Given the description of an element on the screen output the (x, y) to click on. 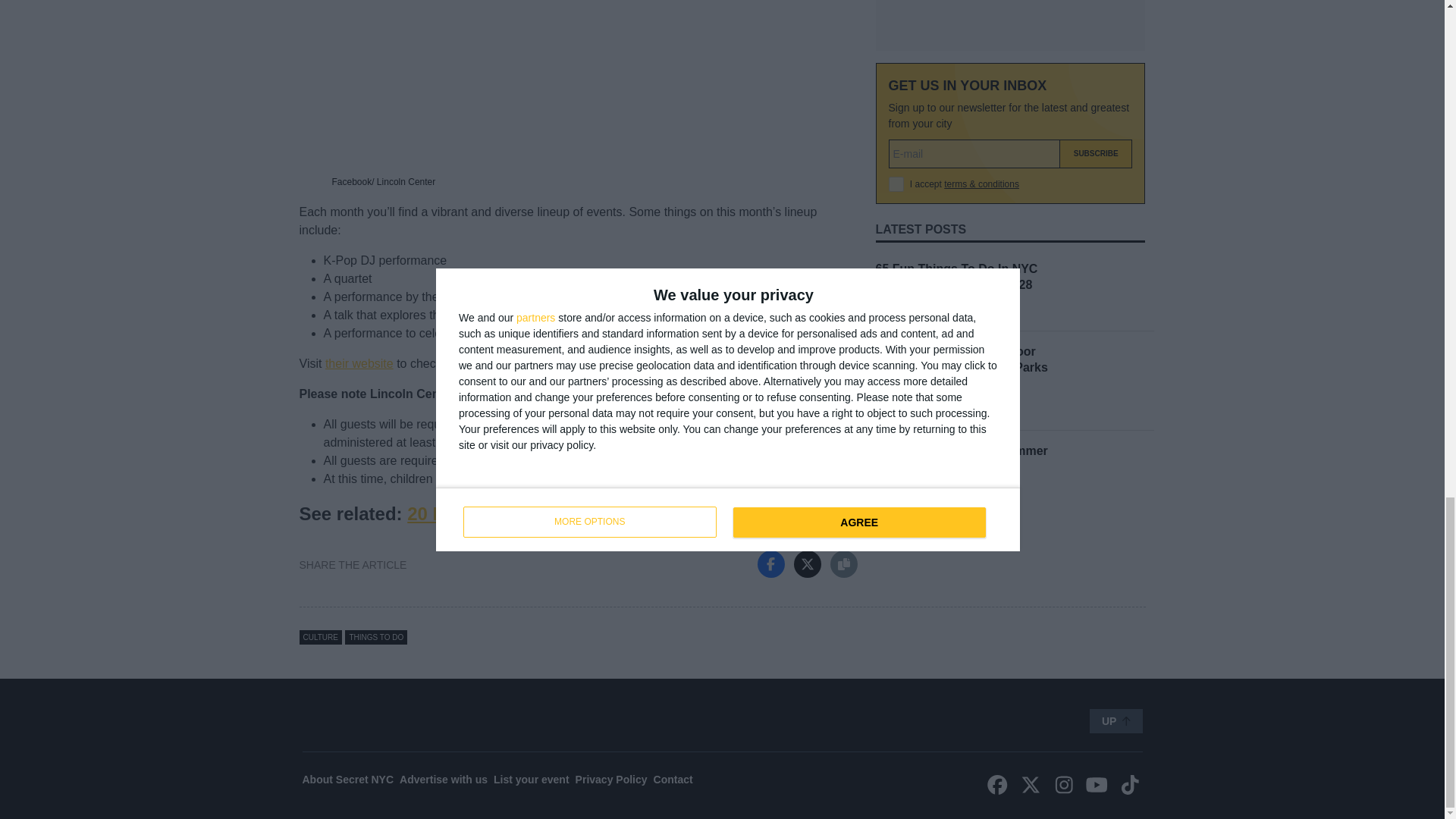
JULY 23, 2024 (904, 131)
20 Free Museums In NYC To Up Your Art Intake (609, 513)
JULY 24, 2024 (904, 32)
their website (358, 363)
JULY 23, 2024 (904, 231)
